Given the description of an element on the screen output the (x, y) to click on. 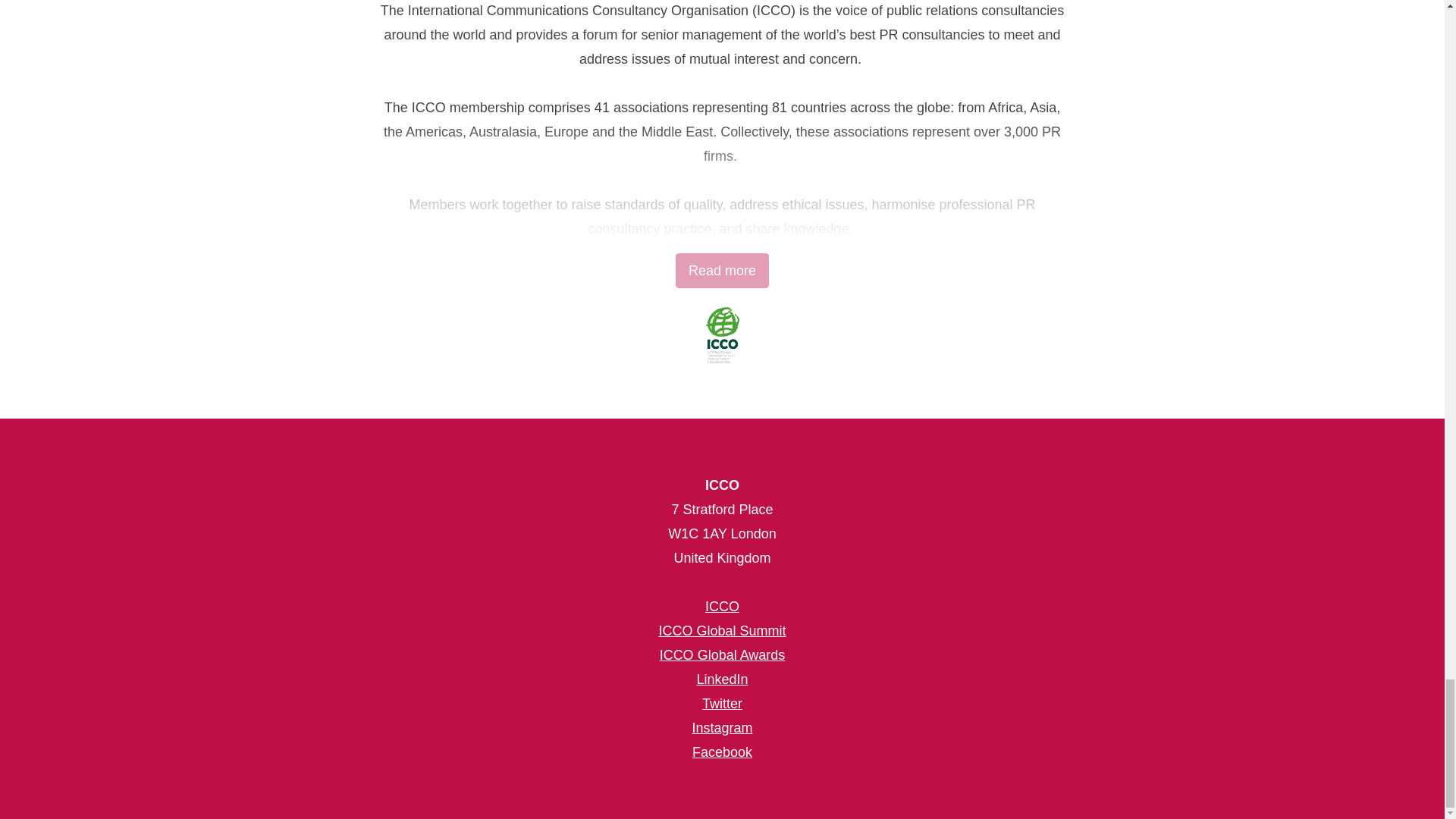
ICCO (721, 606)
Instagram (721, 727)
LinkedIn (721, 679)
ICCO Global Summit (722, 630)
Facebook (722, 752)
Read more (721, 270)
ICCO Global Awards (722, 654)
Twitter (721, 703)
